Given the description of an element on the screen output the (x, y) to click on. 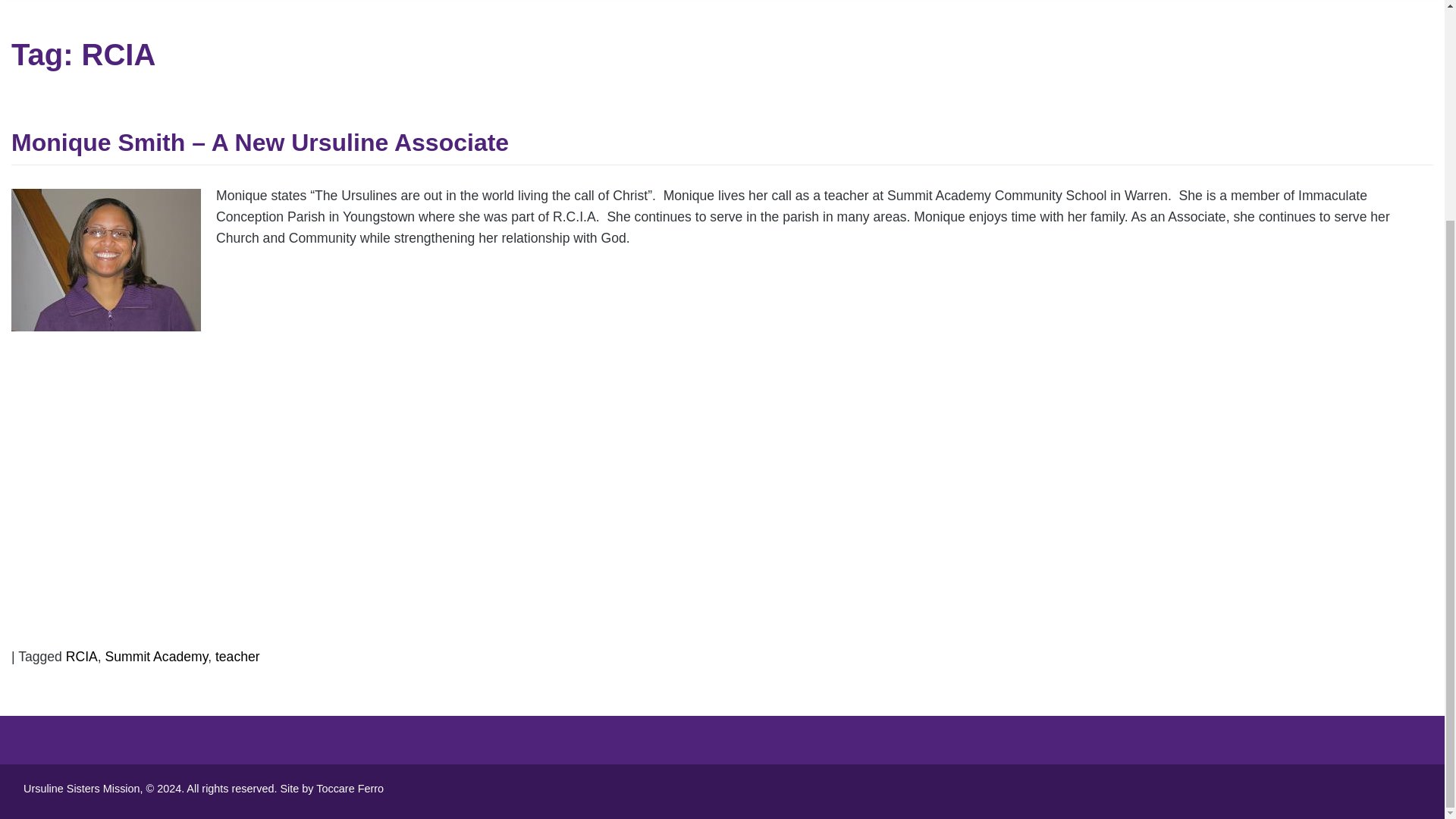
RCIA (81, 656)
Summit Academy (156, 656)
